Given the description of an element on the screen output the (x, y) to click on. 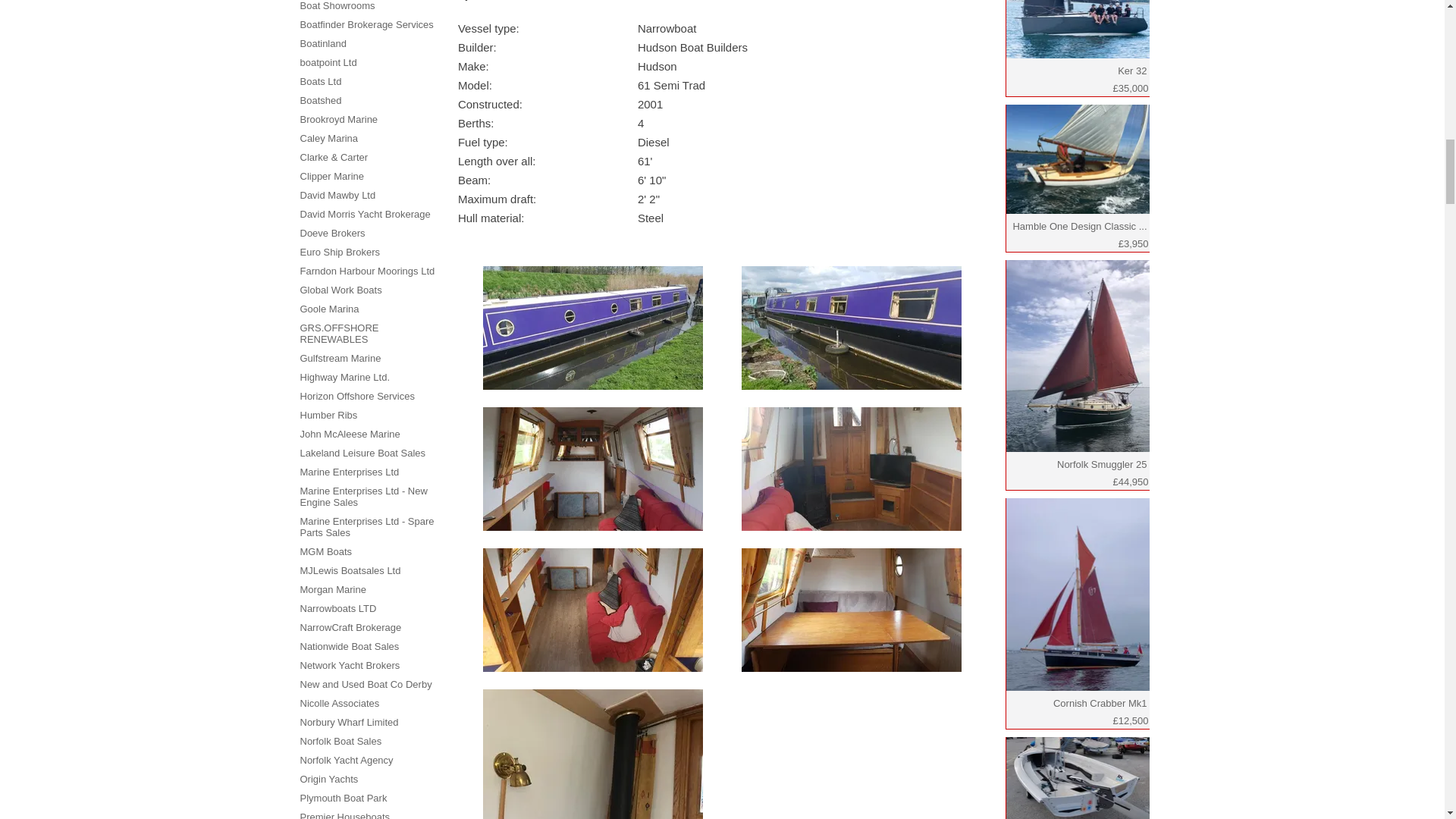
Caley Marina, UK (328, 138)
Boatshed, UK (320, 100)
Boats Ltd, UK (320, 81)
boatpoint Ltd, UK (327, 61)
Boatfinder Brokerage Services, UK (366, 24)
Boat Showrooms, UK (337, 5)
Boatinland, UK (322, 43)
Brookroyd Marine, UK (338, 119)
